Given the description of an element on the screen output the (x, y) to click on. 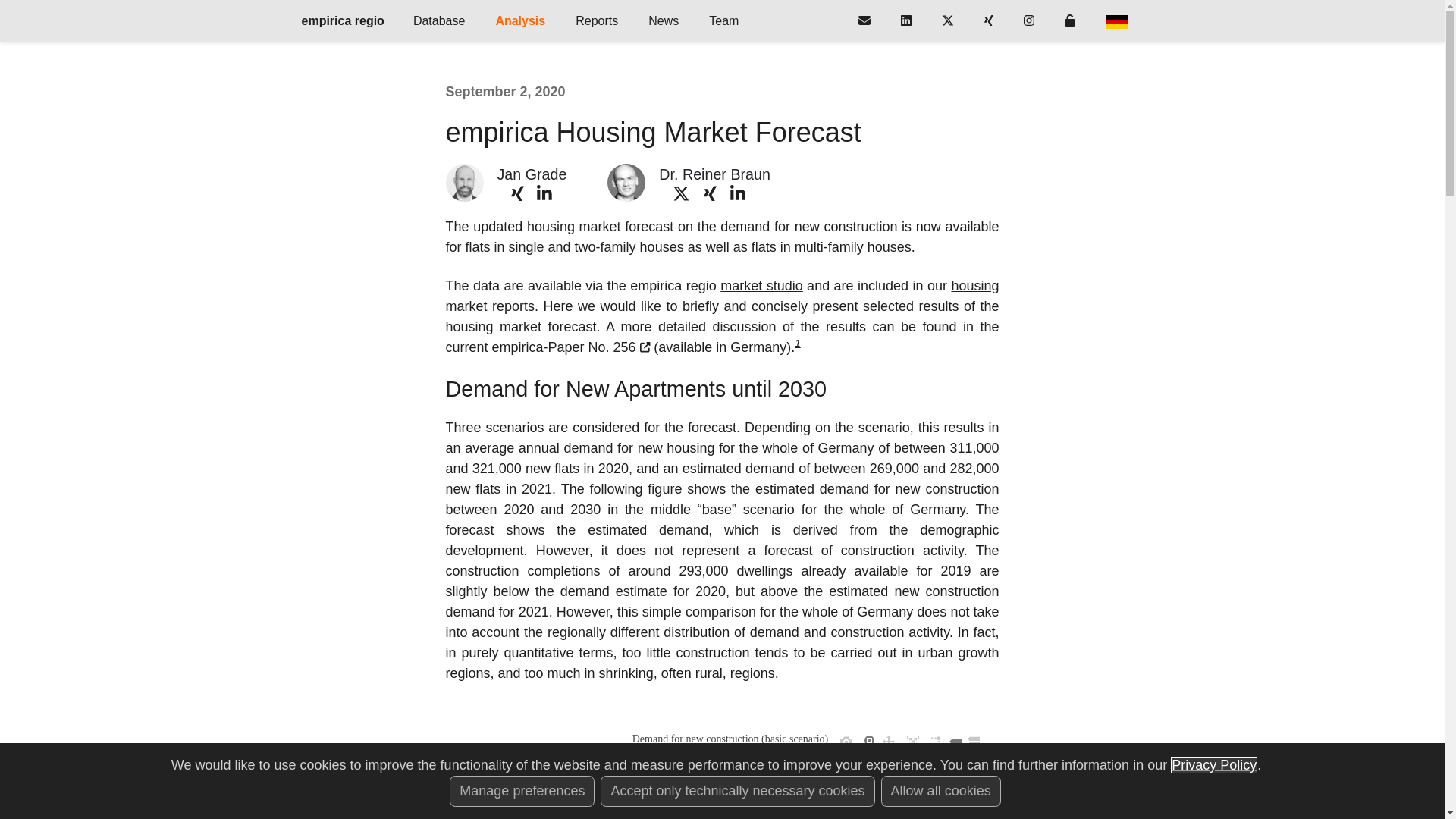
Team (724, 20)
housing market reports (721, 295)
Database (438, 20)
News (663, 20)
market studio (761, 285)
Reports (596, 20)
Dr. Reiner Braun (714, 174)
Analysis (520, 20)
empirica-Paper No. 256  (571, 346)
Jan Grade (532, 174)
empirica regio (342, 20)
